Given the description of an element on the screen output the (x, y) to click on. 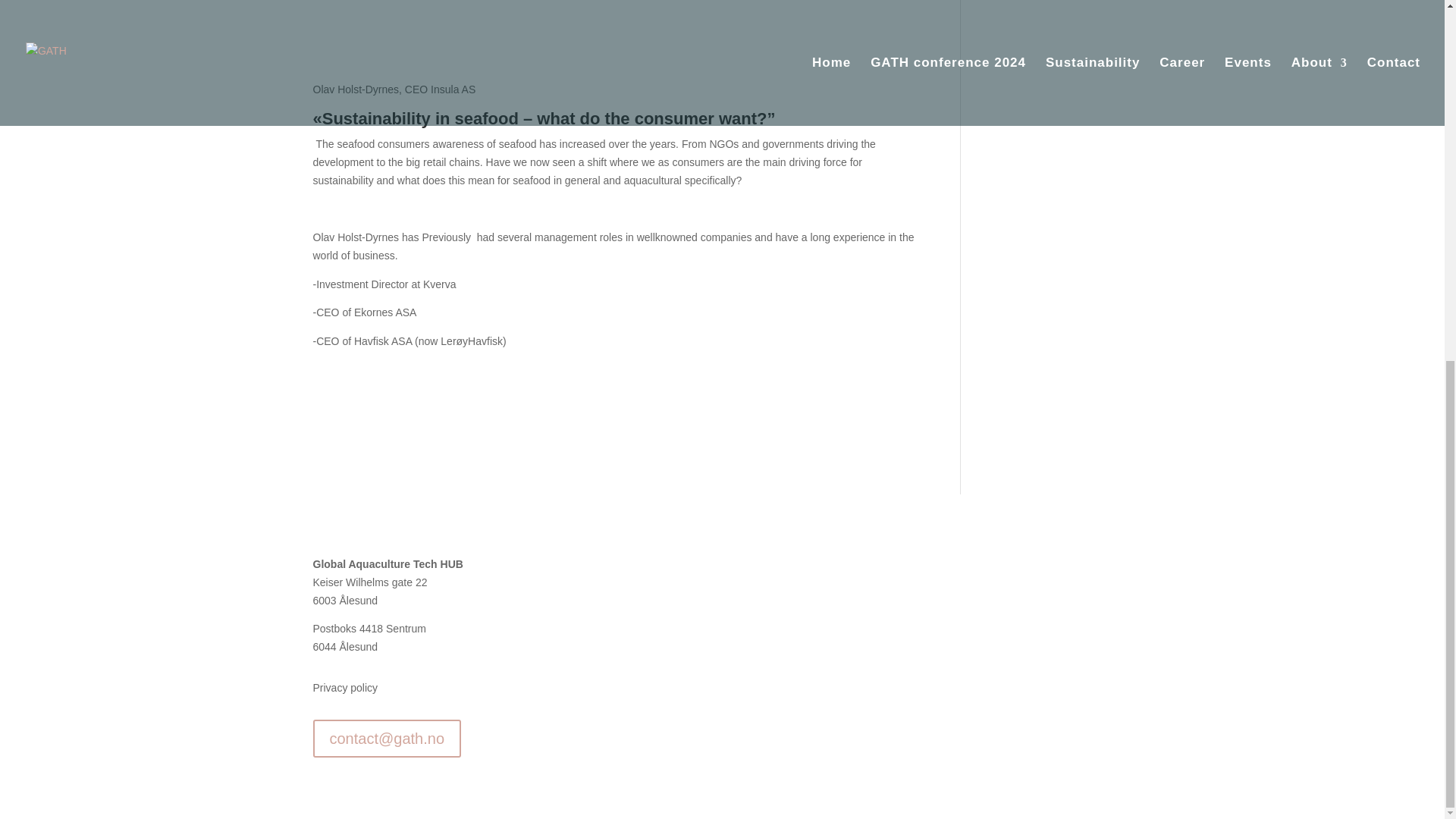
Follow on Youtube (1118, 567)
Follow on LinkedIn (1088, 567)
Follow on Facebook (1058, 567)
